Given the description of an element on the screen output the (x, y) to click on. 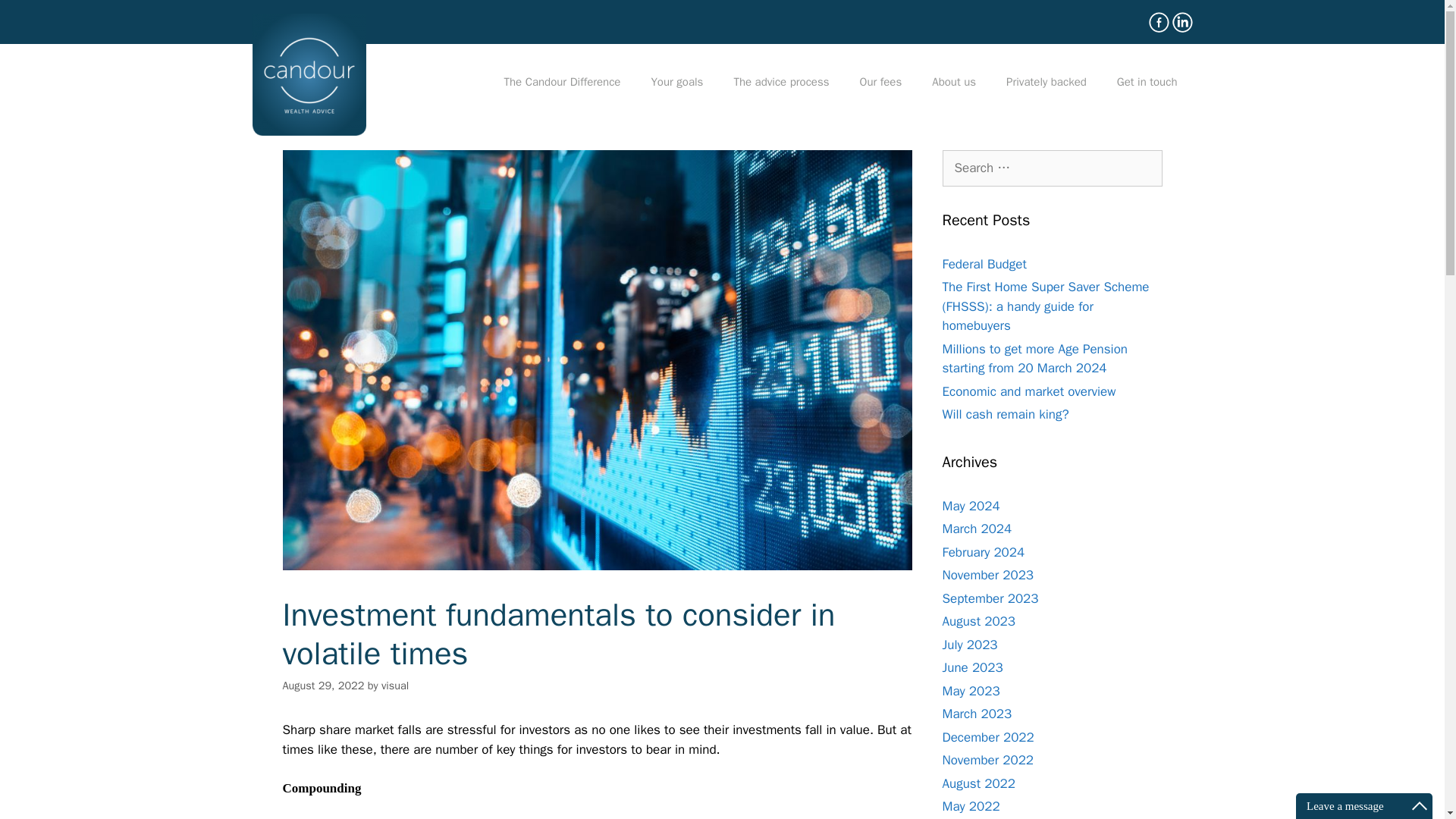
Economic and market overview (1028, 391)
Millions to get more Age Pension starting from 20 March 2024 (1034, 358)
The Candour Difference (560, 81)
Search (35, 18)
September 2023 (990, 598)
View all posts by visual (395, 685)
Maximize (1419, 805)
Our fees (880, 81)
August 2023 (978, 621)
The advice process (780, 81)
June 2023 (972, 667)
Federal Budget (984, 263)
Get in touch (1147, 81)
visual (395, 685)
Will cash remain king? (1005, 414)
